Given the description of an element on the screen output the (x, y) to click on. 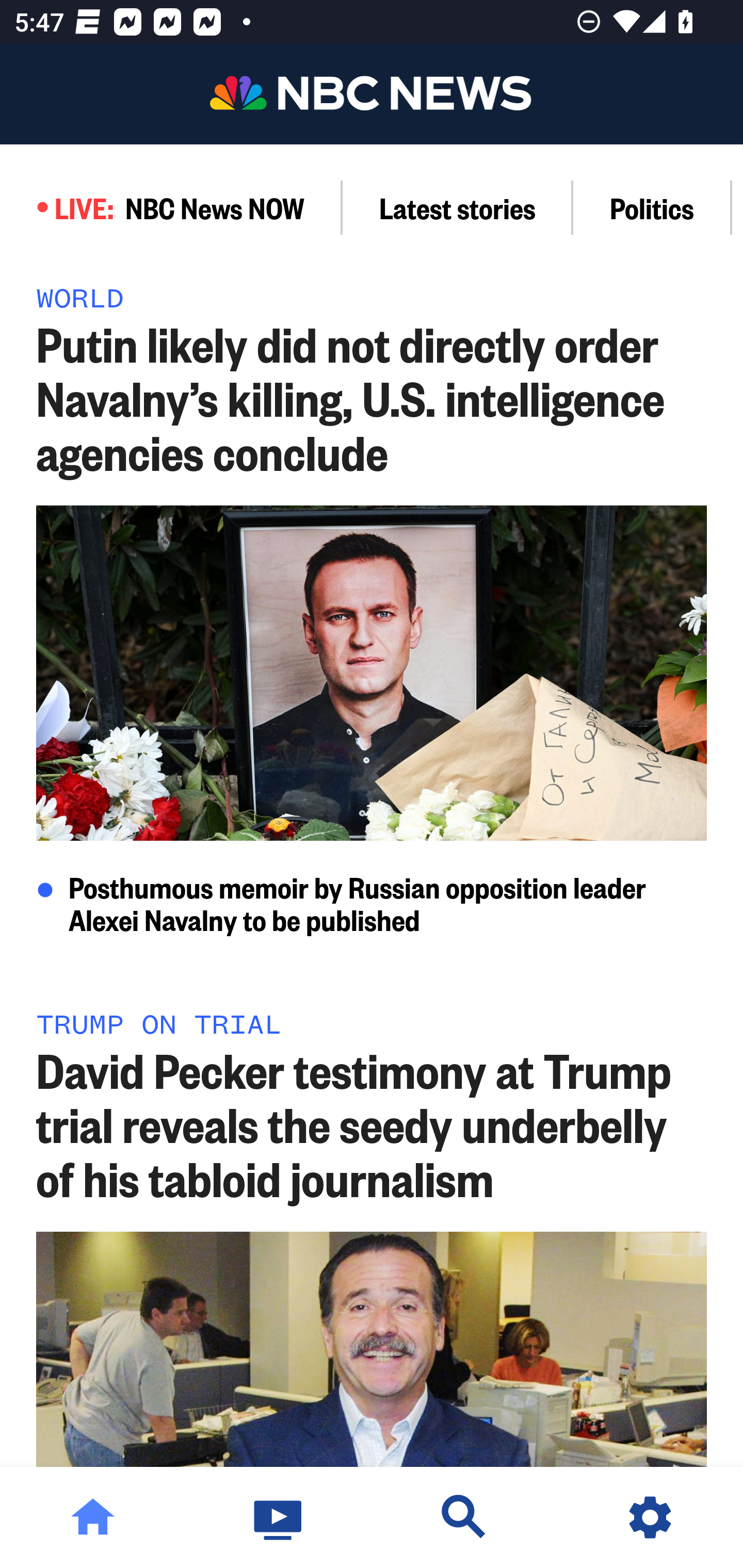
LIVE:  NBC News NOW (171, 207)
Latest stories Section,Latest stories (457, 207)
Politics Section,Politics (652, 207)
Watch (278, 1517)
Discover (464, 1517)
Settings (650, 1517)
